Given the description of an element on the screen output the (x, y) to click on. 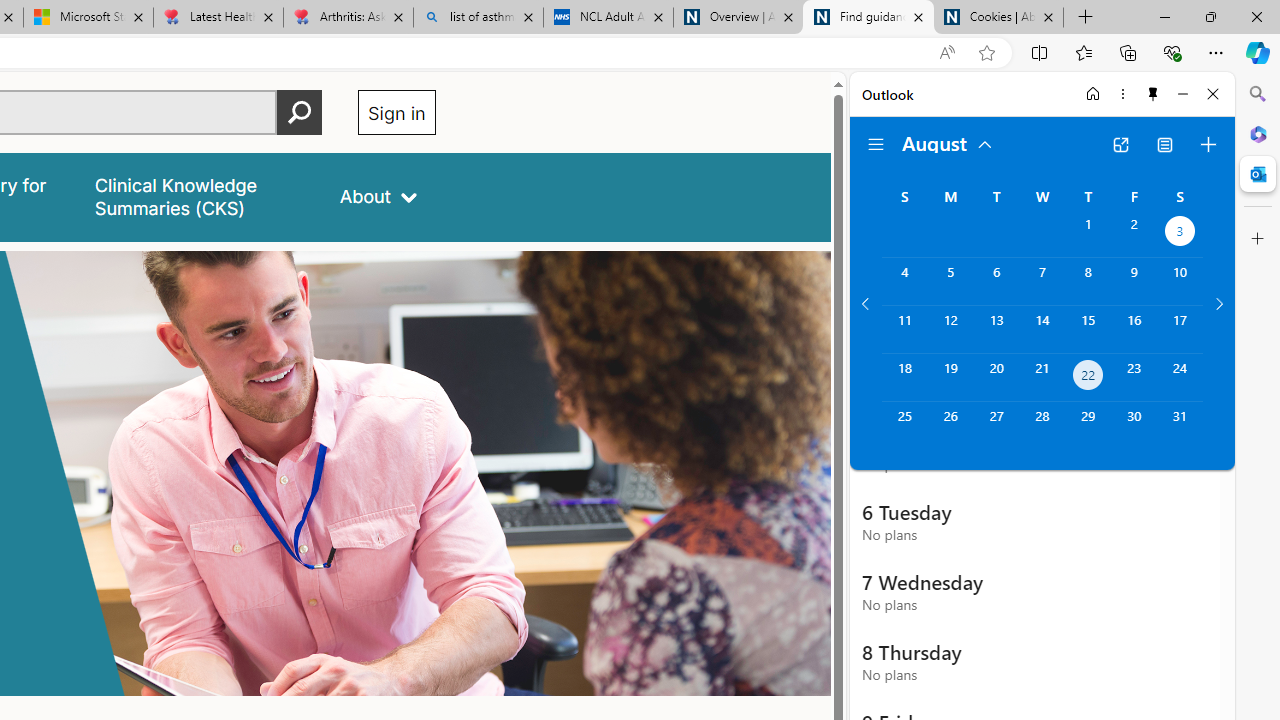
Thursday, August 22, 2024. Today.  (1088, 377)
Thursday, August 1, 2024.  (1088, 233)
Monday, August 5, 2024.  (950, 281)
Collections (1128, 52)
Monday, August 19, 2024.  (950, 377)
Monday, August 12, 2024.  (950, 329)
Arthritis: Ask Health Professionals (348, 17)
Browser essentials (1171, 52)
Tuesday, August 27, 2024.  (996, 425)
Perform search (299, 112)
Wednesday, August 21, 2024.  (1042, 377)
Saturday, August 10, 2024.  (1180, 281)
Wednesday, August 7, 2024.  (1042, 281)
August (948, 141)
